Given the description of an element on the screen output the (x, y) to click on. 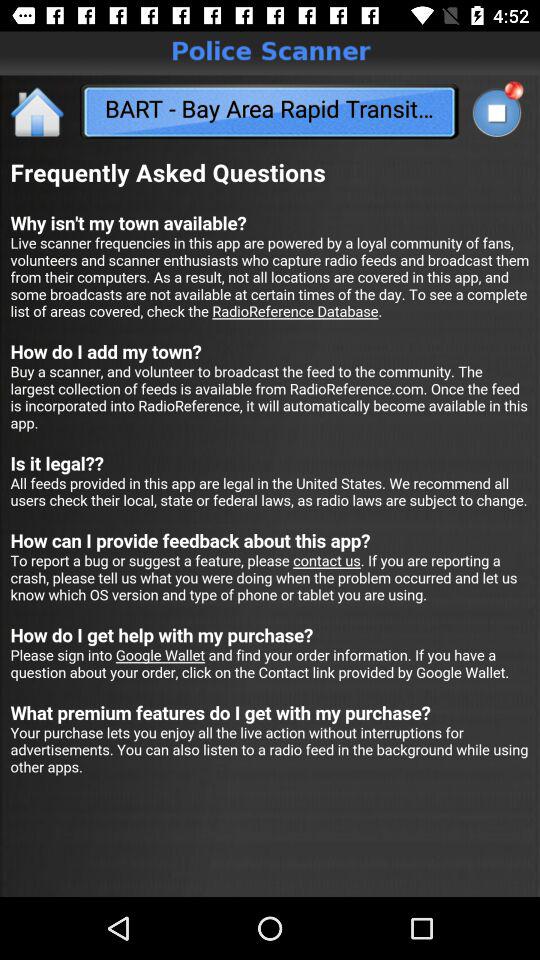
go to previous (38, 111)
